Given the description of an element on the screen output the (x, y) to click on. 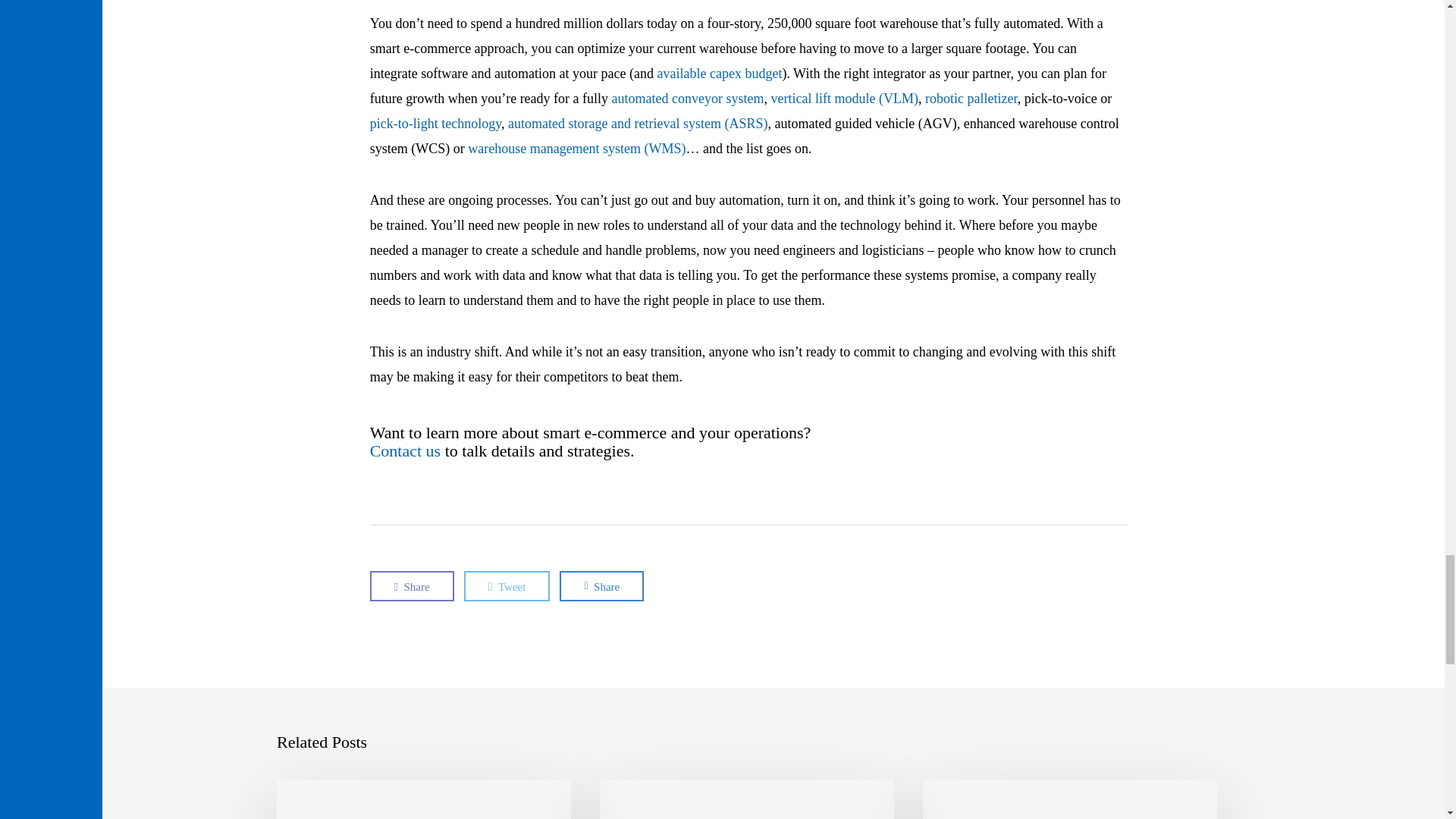
Tweet this (507, 585)
Share this (601, 585)
Share this (411, 585)
